Given the description of an element on the screen output the (x, y) to click on. 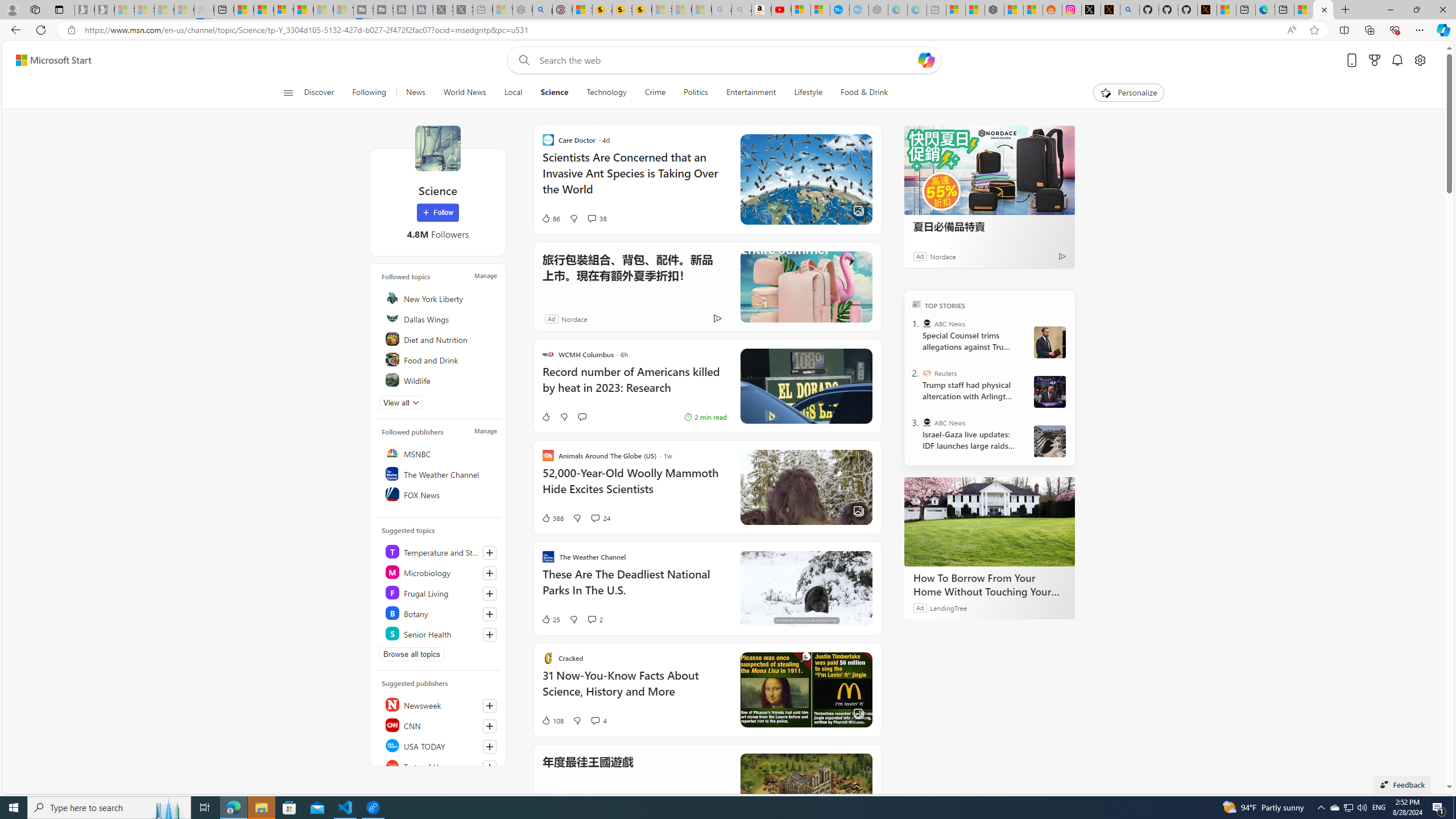
CNN (439, 724)
Politics (695, 92)
Skip to footer (46, 59)
Class: hero-image (805, 588)
X Privacy Policy (1206, 9)
These Are The Deadliest National Parks In The U.S. (633, 587)
